Given the description of an element on the screen output the (x, y) to click on. 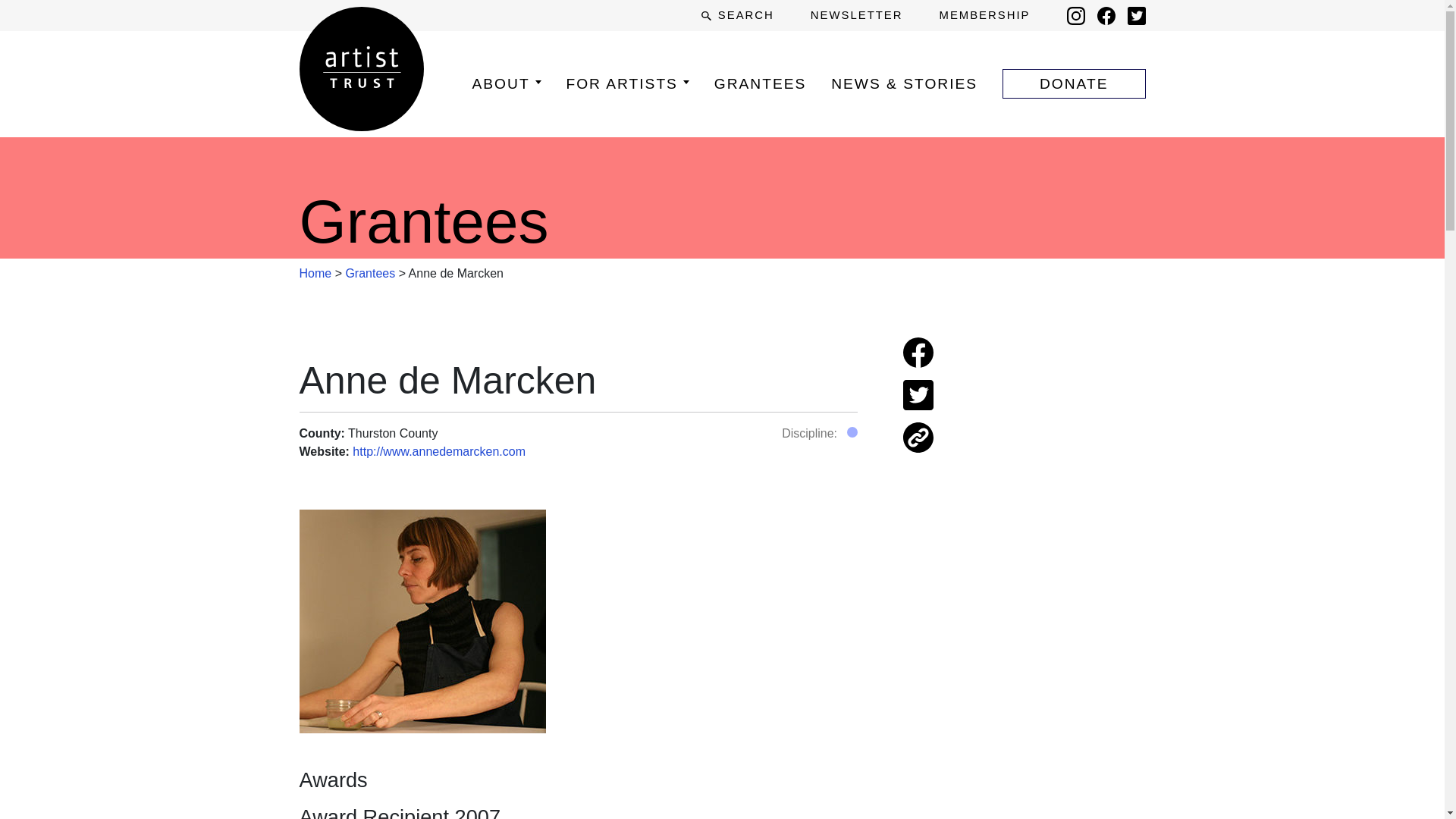
Home (314, 273)
NEWSLETTER (856, 14)
Grantees (369, 273)
DONATE (1074, 83)
SEARCH (737, 14)
MEMBERSHIP (984, 14)
Twitter (1135, 15)
GRANTEES (760, 83)
FOR ARTISTS (627, 83)
Instagram (1074, 15)
